Given the description of an element on the screen output the (x, y) to click on. 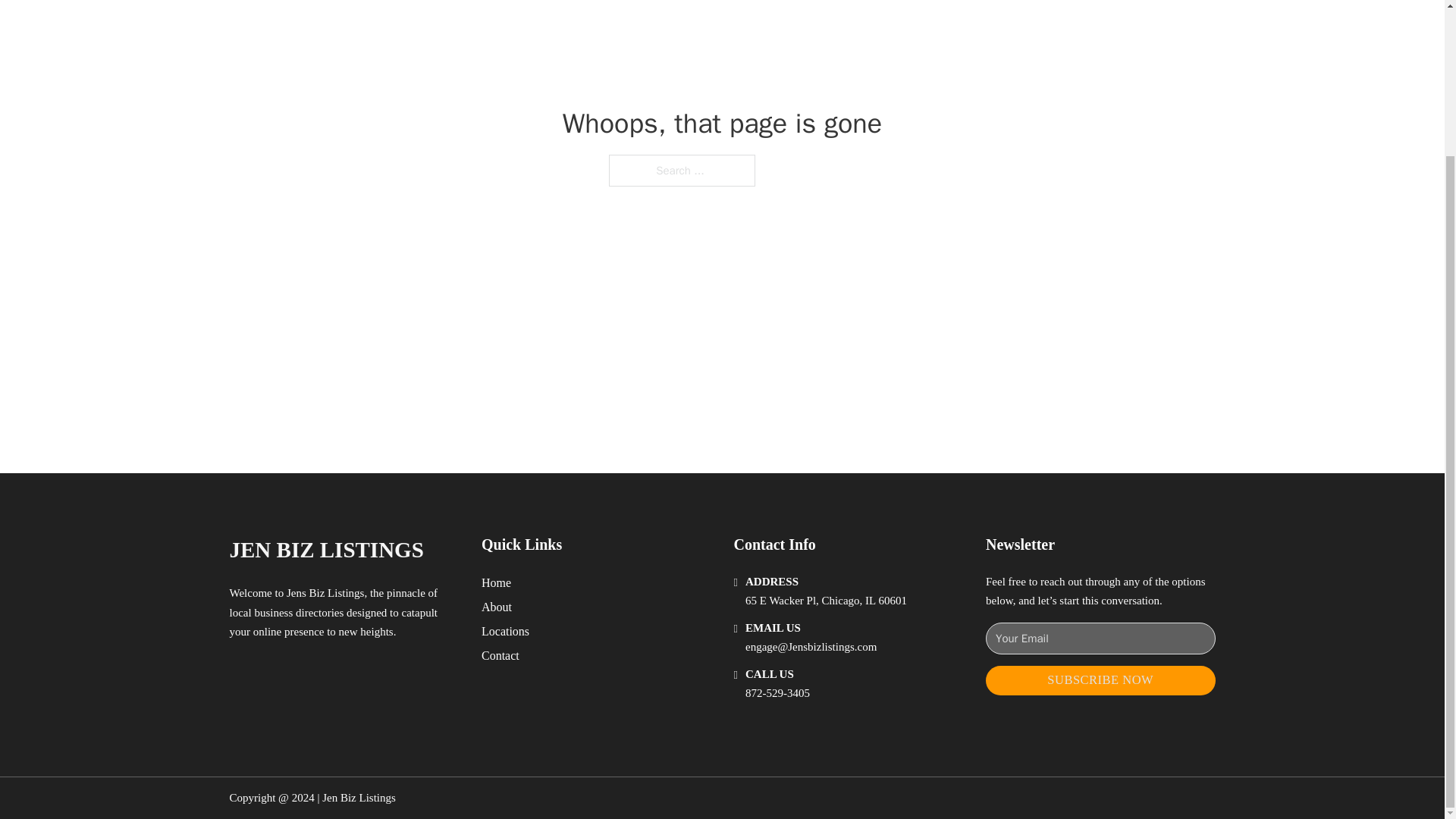
Contact (500, 655)
Locations (505, 630)
SUBSCRIBE NOW (1100, 680)
About (496, 607)
JEN BIZ LISTINGS (325, 549)
Home (496, 582)
872-529-3405 (777, 693)
